Given the description of an element on the screen output the (x, y) to click on. 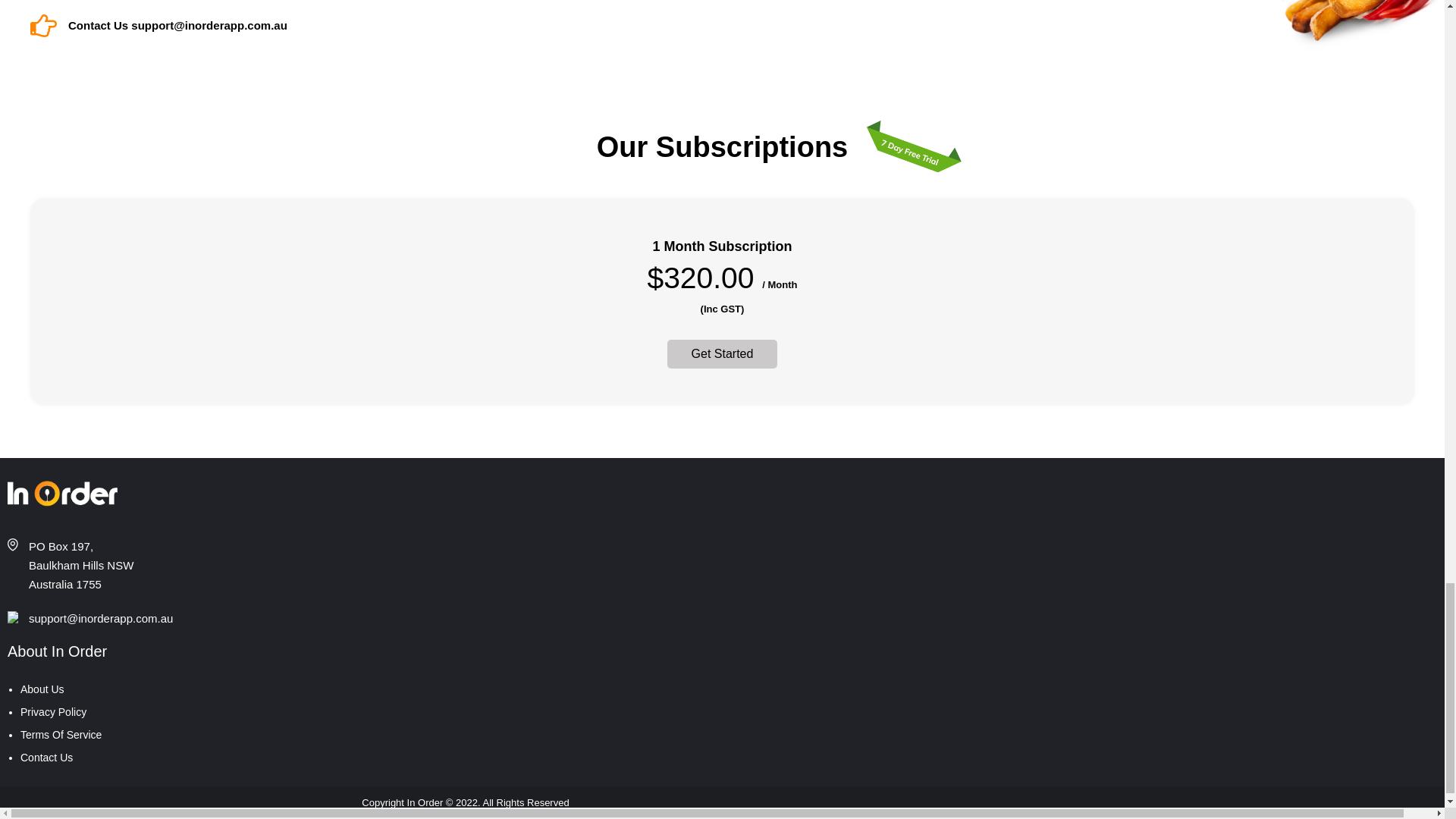
Terms Of Service (60, 734)
About Us (42, 689)
Privacy Policy (52, 711)
Contact Us (46, 757)
Get Started (721, 353)
